Given the description of an element on the screen output the (x, y) to click on. 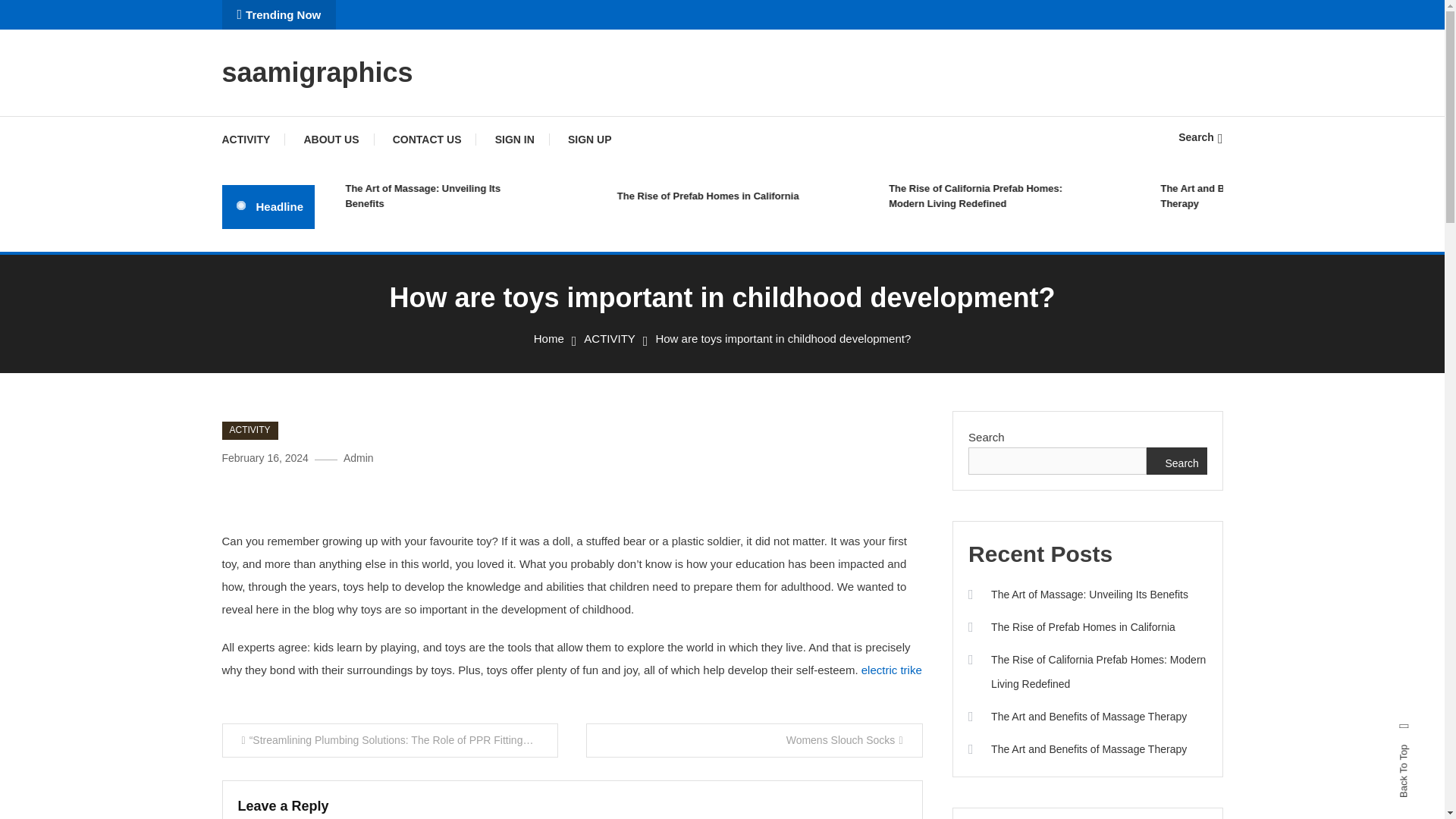
SIGN UP (590, 139)
ABOUT US (331, 139)
The Art and Benefits of Massage Therapy (1291, 195)
Search (768, 434)
February 16, 2024 (264, 458)
Womens Slouch Socks (754, 740)
Search (1200, 137)
ACTIVITY (253, 139)
The Art of Massage: Unveiling Its Benefits (476, 195)
The Rise of California Prefab Homes: Modern Living Redefined (1020, 195)
